Given the description of an element on the screen output the (x, y) to click on. 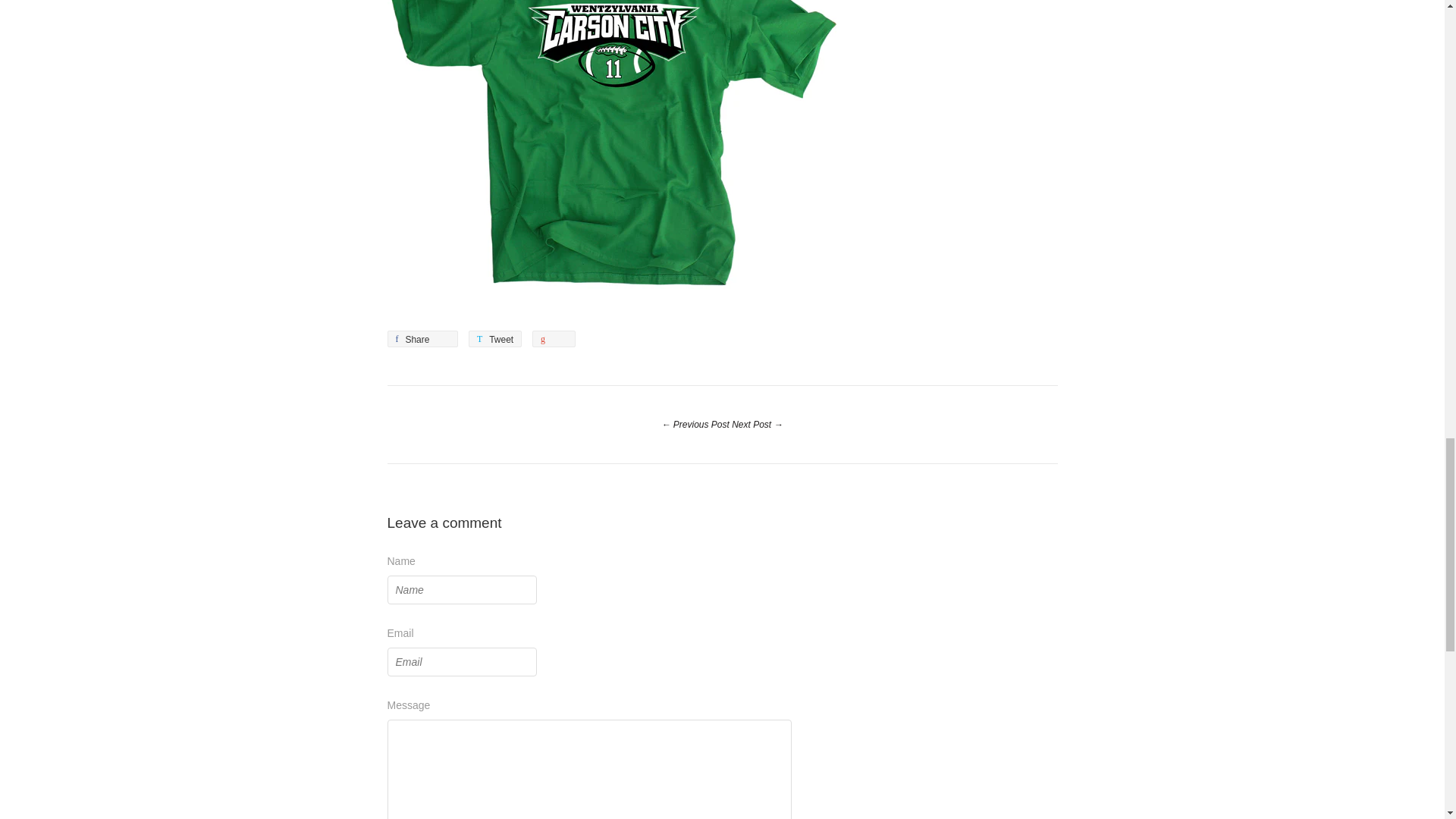
Tweet on Twitter (494, 338)
Share on Facebook (494, 338)
